Given the description of an element on the screen output the (x, y) to click on. 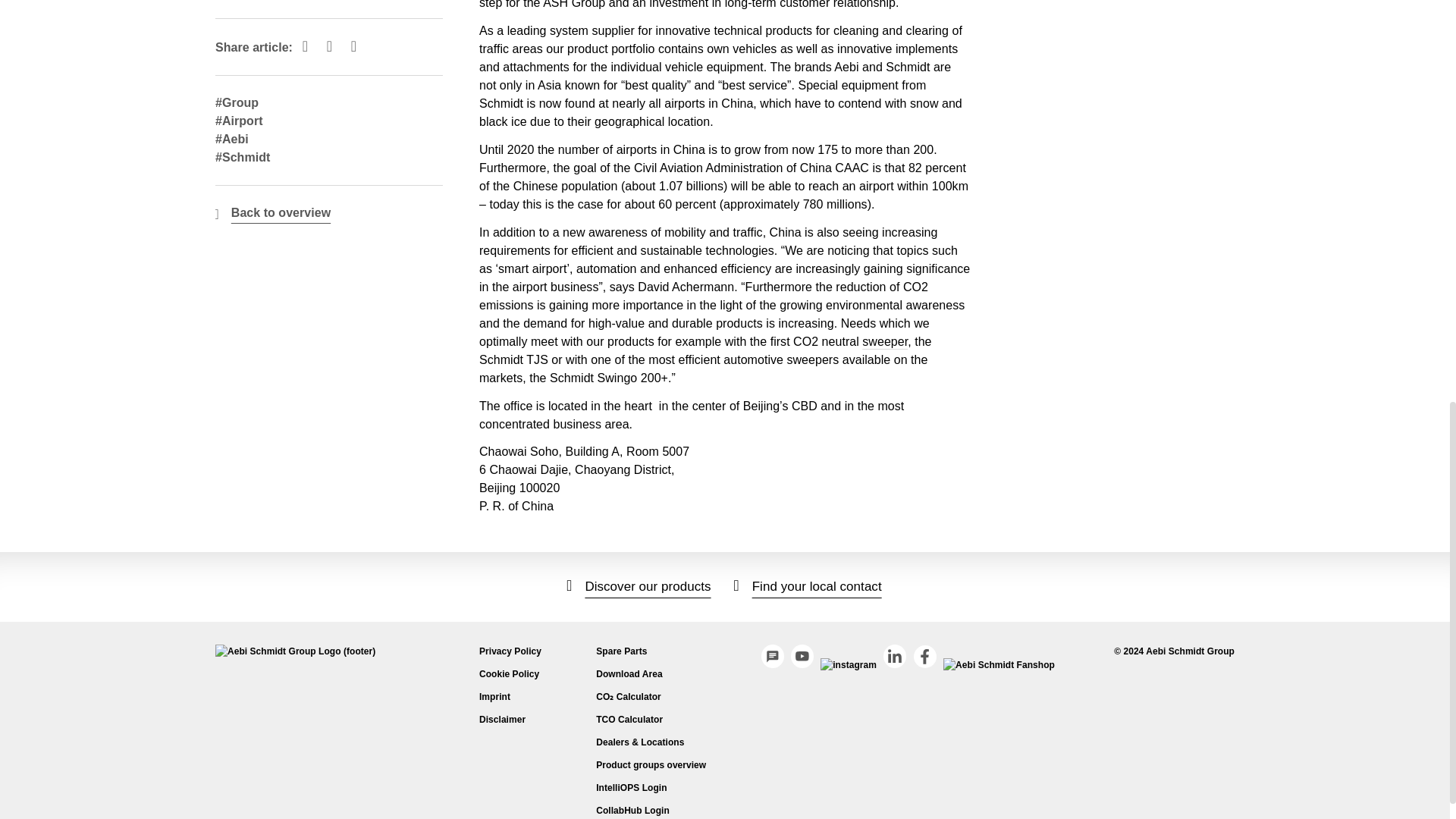
sweeper (884, 341)
Discover our products (638, 586)
Find your local contact (808, 586)
